Given the description of an element on the screen output the (x, y) to click on. 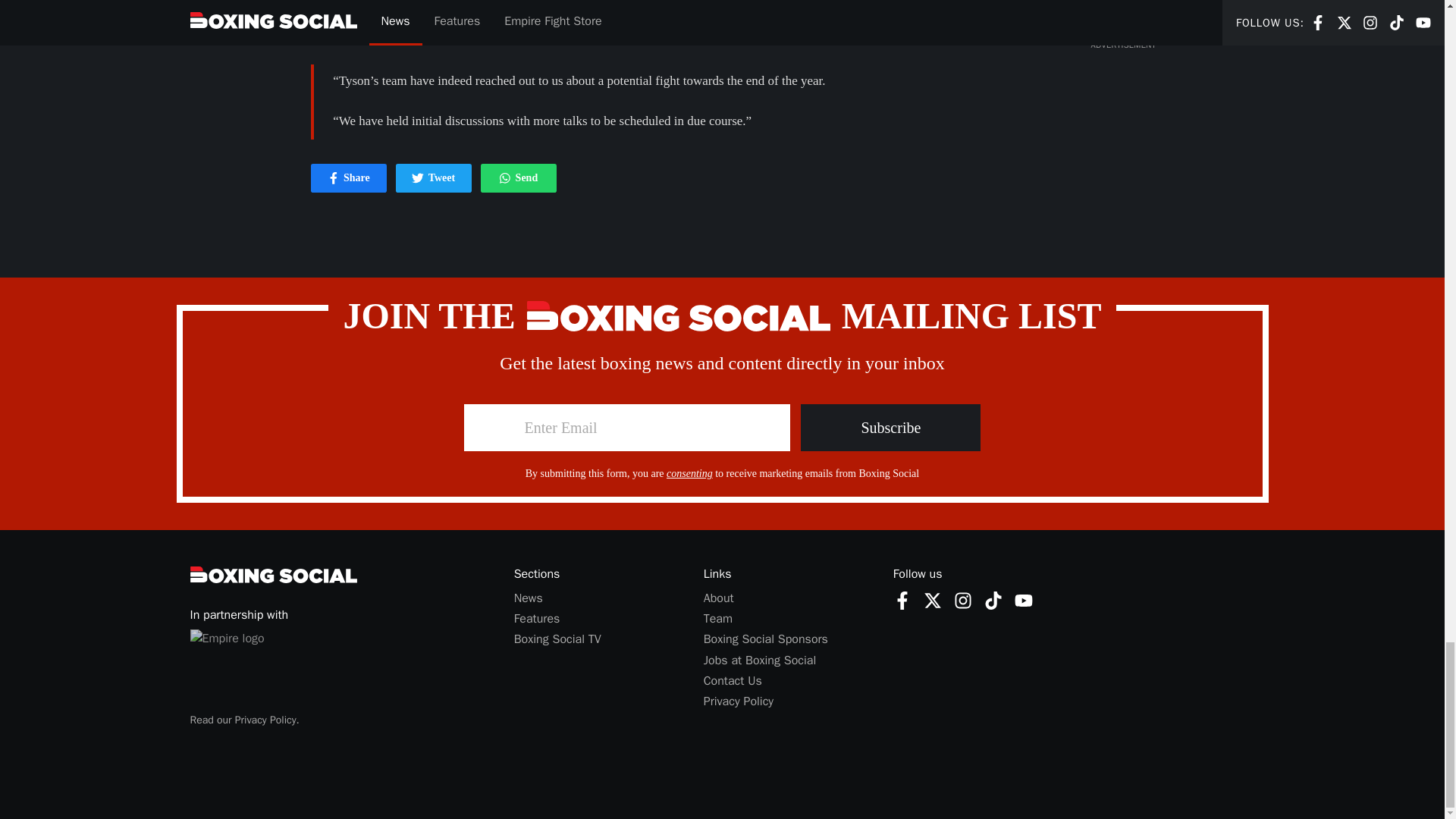
TikTok (993, 600)
Features (536, 618)
Privacy Policy (932, 599)
About (433, 178)
Privacy Policy (962, 599)
Facebook (738, 701)
Subscribe (718, 598)
Contact Us (902, 599)
News (265, 719)
